Given the description of an element on the screen output the (x, y) to click on. 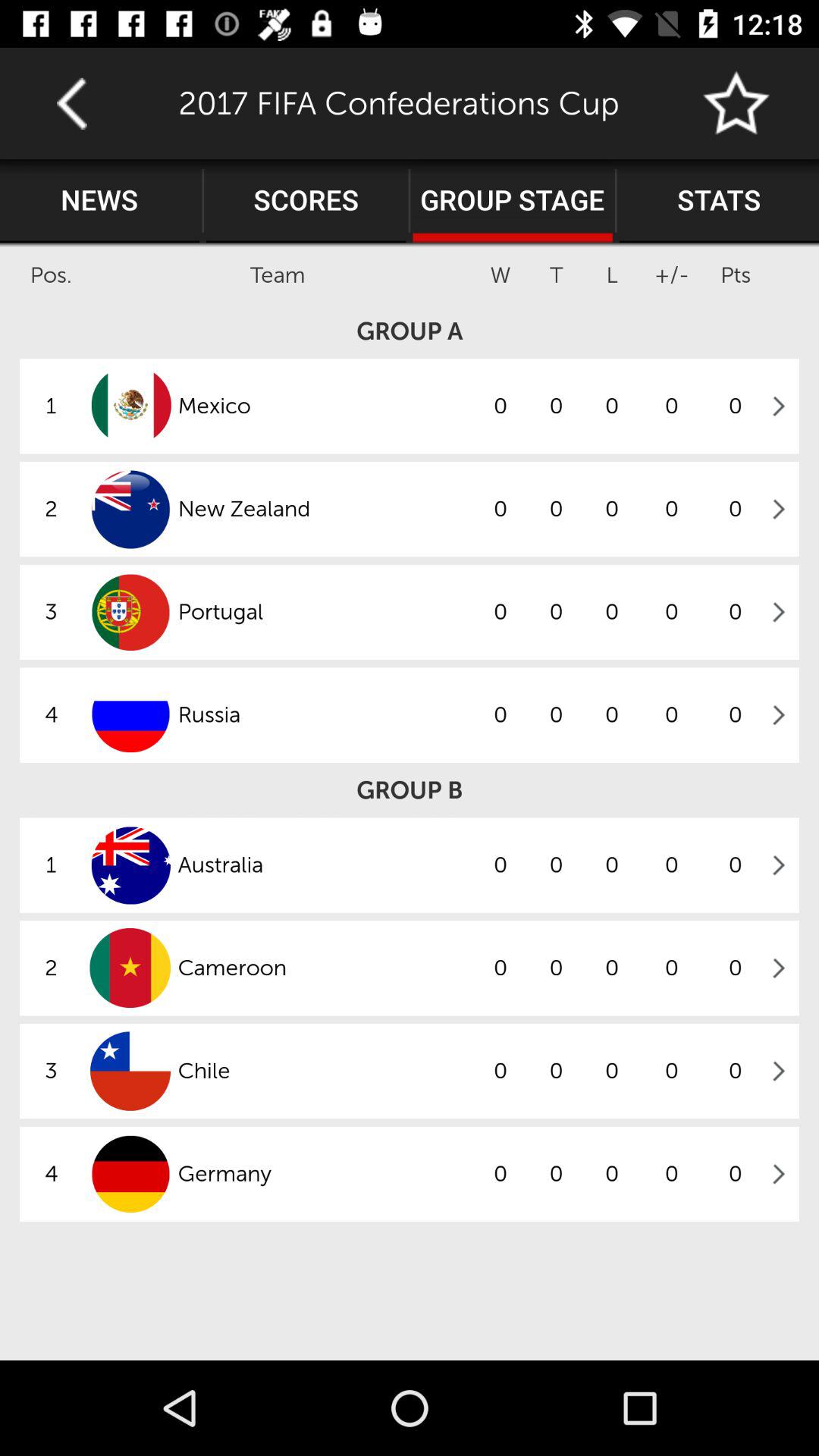
launch item below the pos. (409, 330)
